Given the description of an element on the screen output the (x, y) to click on. 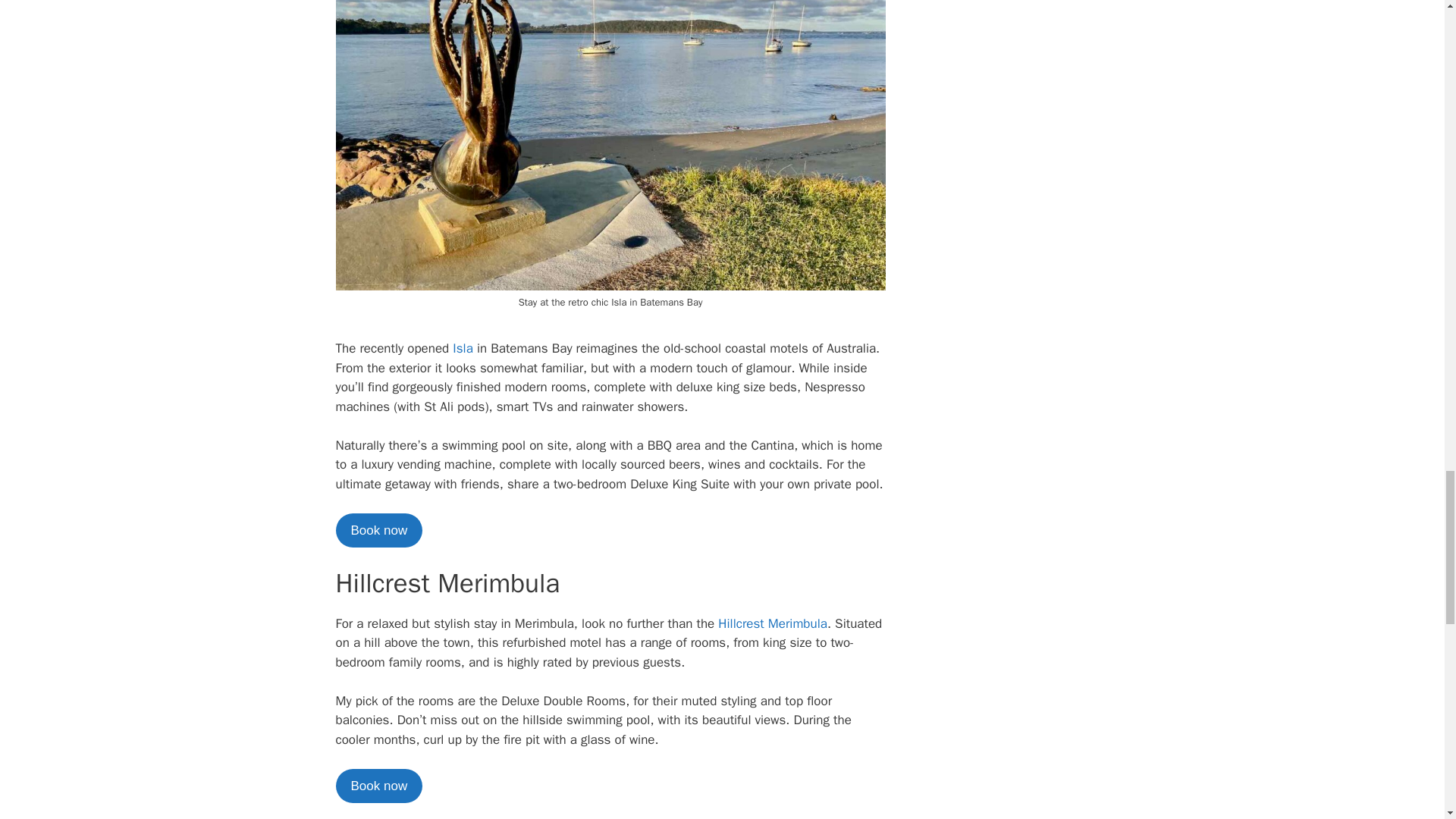
Book now (378, 530)
Book now (378, 786)
Hillcrest Merimbula (772, 623)
Isla (461, 348)
